Given the description of an element on the screen output the (x, y) to click on. 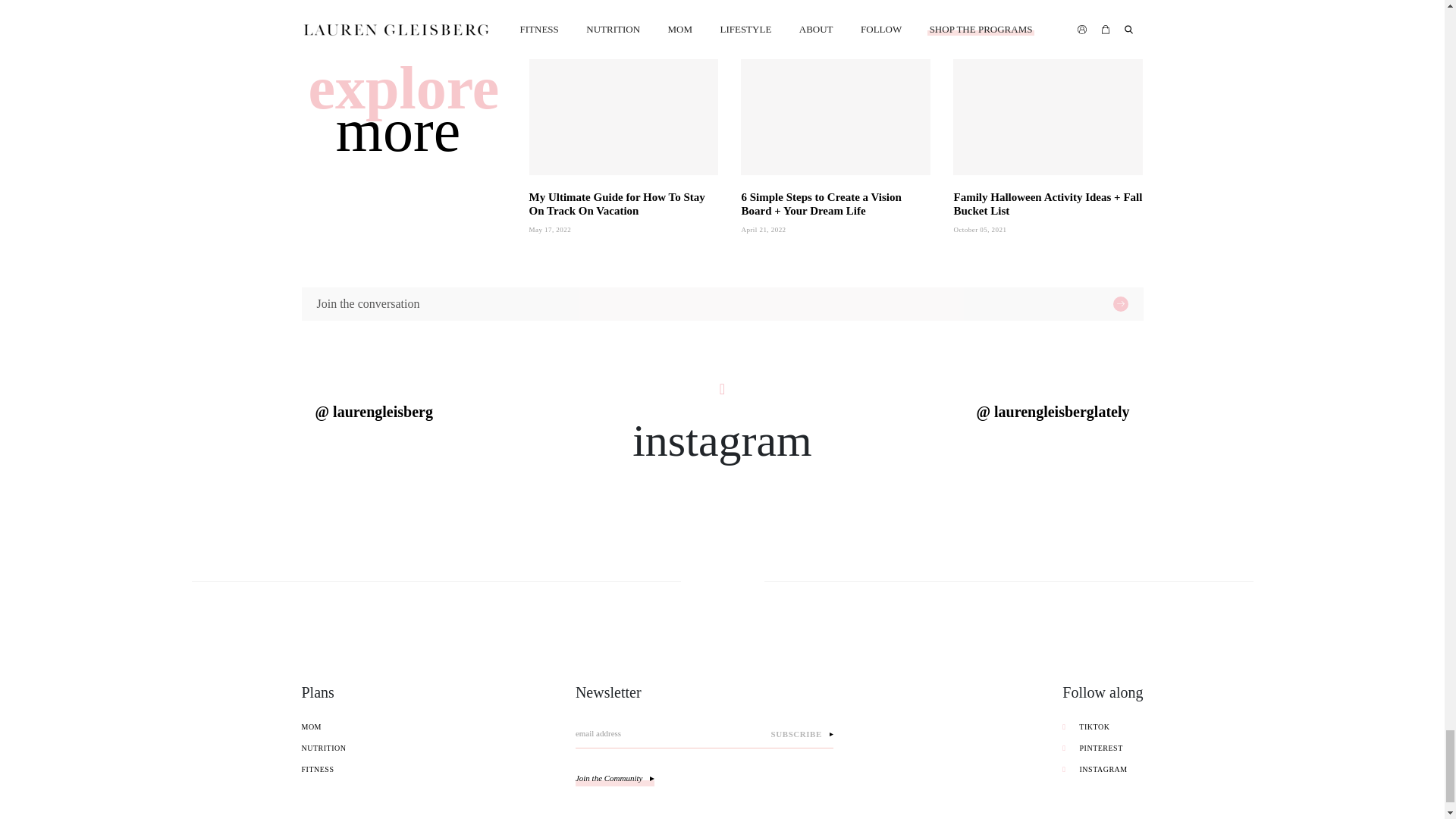
subscribe (799, 734)
